Given the description of an element on the screen output the (x, y) to click on. 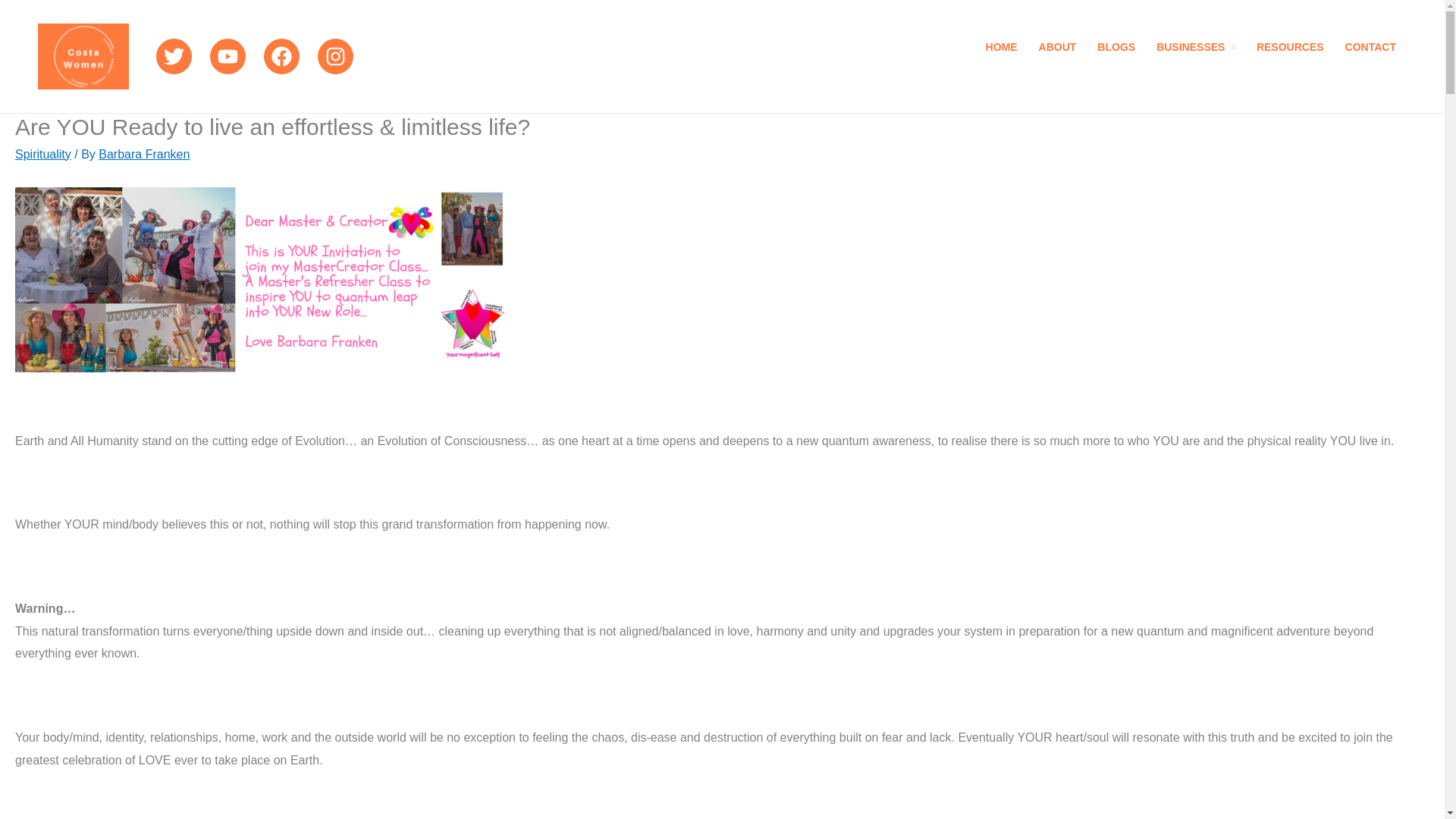
View all posts by Barbara Franken (144, 154)
Spirituality (42, 154)
CONTACT (1370, 56)
BUSINESSES (1195, 56)
RESOURCES (1290, 56)
Barbara Franken (144, 154)
